Given the description of an element on the screen output the (x, y) to click on. 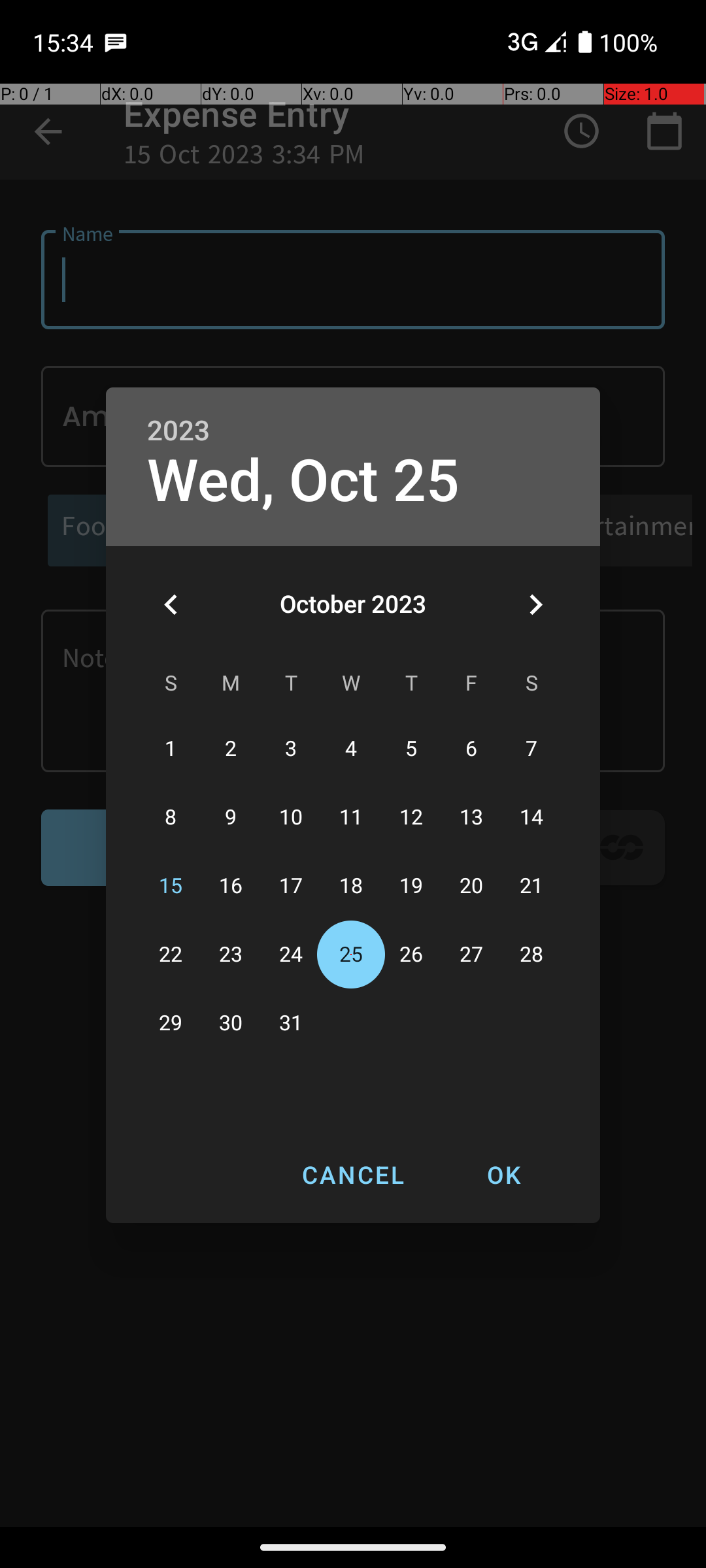
Wed, Oct 25 Element type: android.widget.TextView (303, 480)
